Given the description of an element on the screen output the (x, y) to click on. 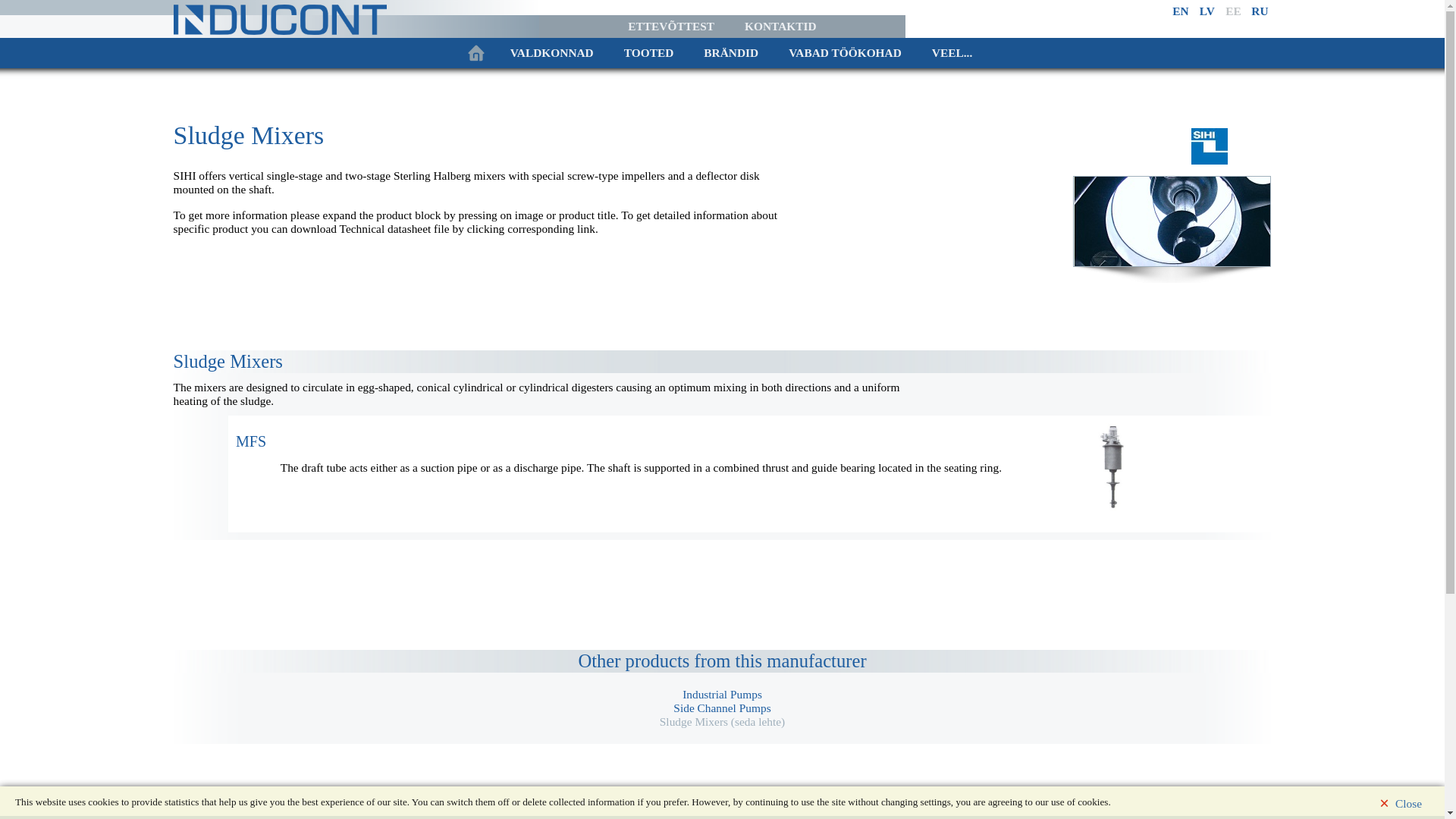
VALDKONNAD (551, 52)
TOOTED (648, 52)
Avaleht (476, 52)
KONTAKTID (780, 26)
RU (1259, 11)
VEEL... (952, 52)
LV (1206, 11)
Click to expand (250, 441)
EN (1180, 11)
EE (1233, 11)
